Given the description of an element on the screen output the (x, y) to click on. 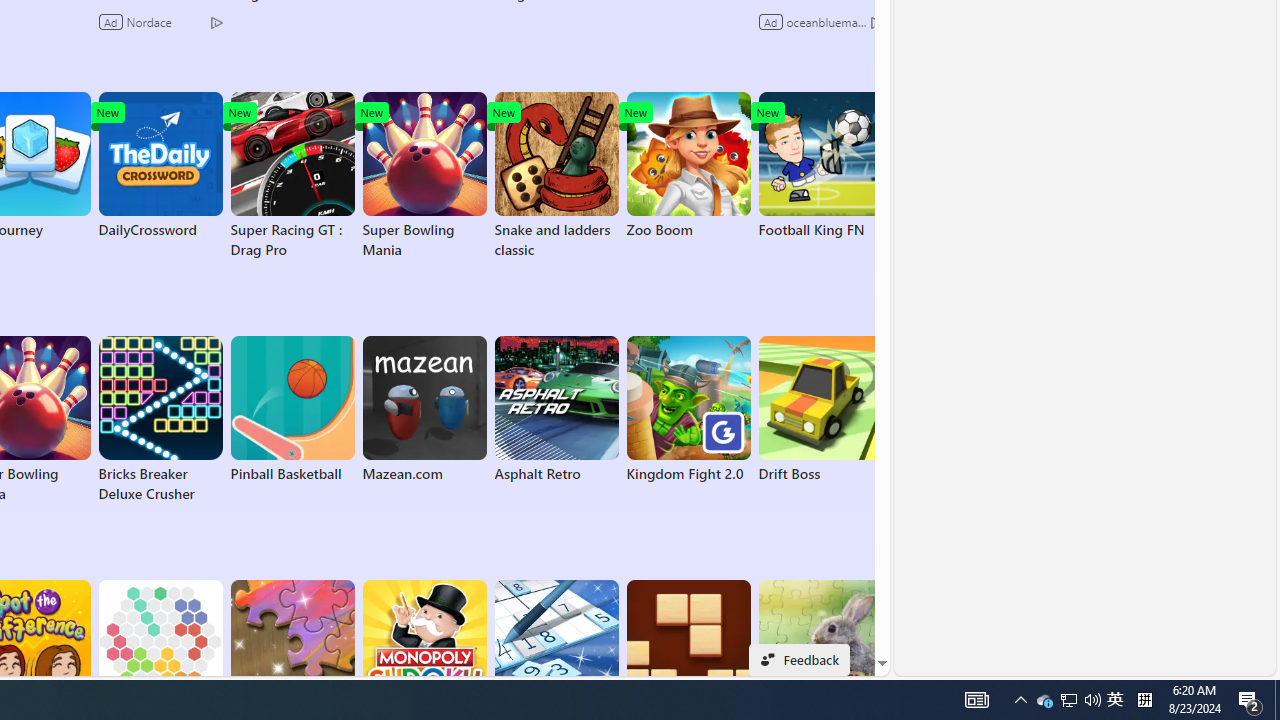
Snake and ladders classic (556, 175)
